Given the description of an element on the screen output the (x, y) to click on. 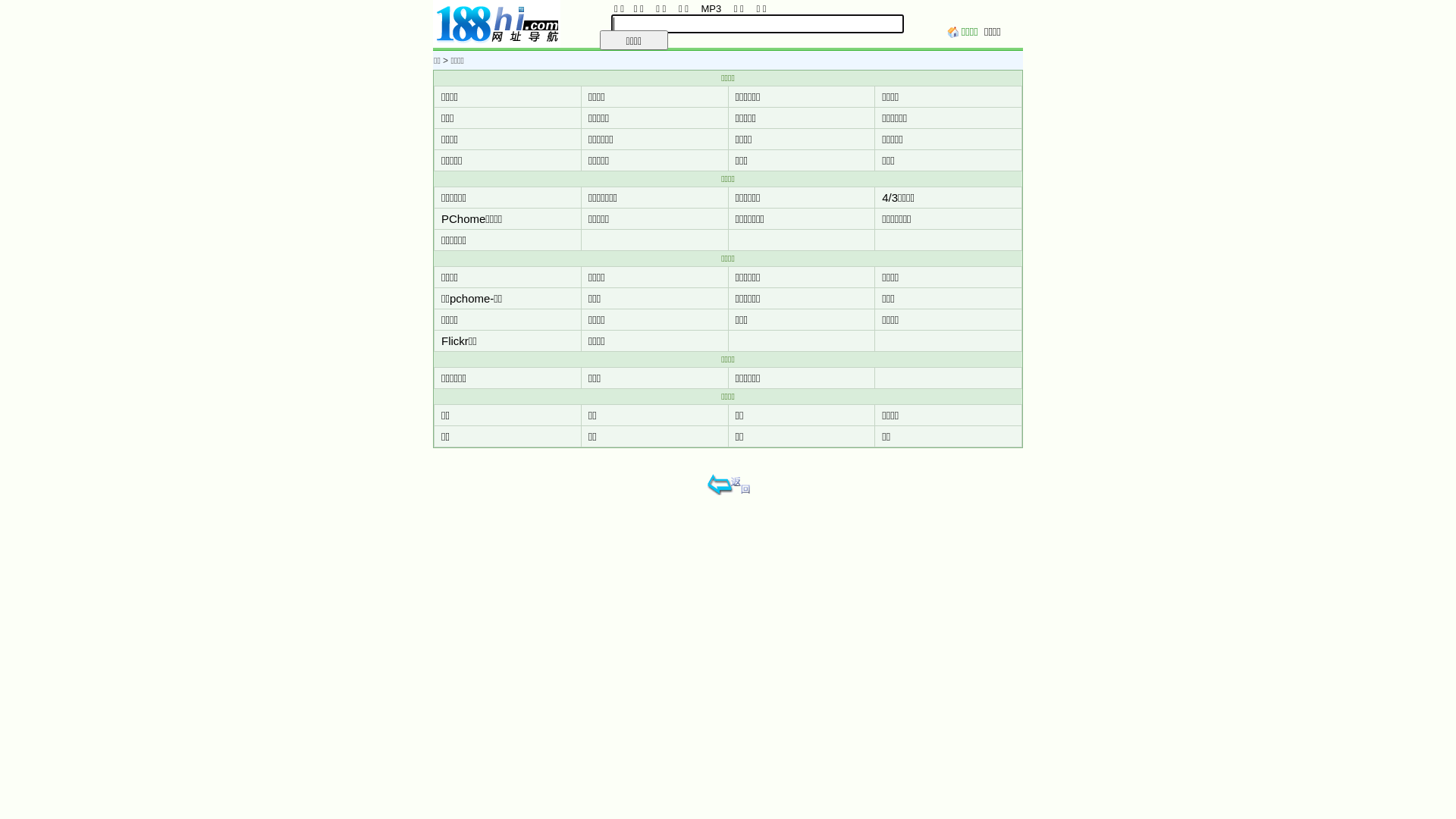
MP3 Element type: text (709, 8)
